Given the description of an element on the screen output the (x, y) to click on. 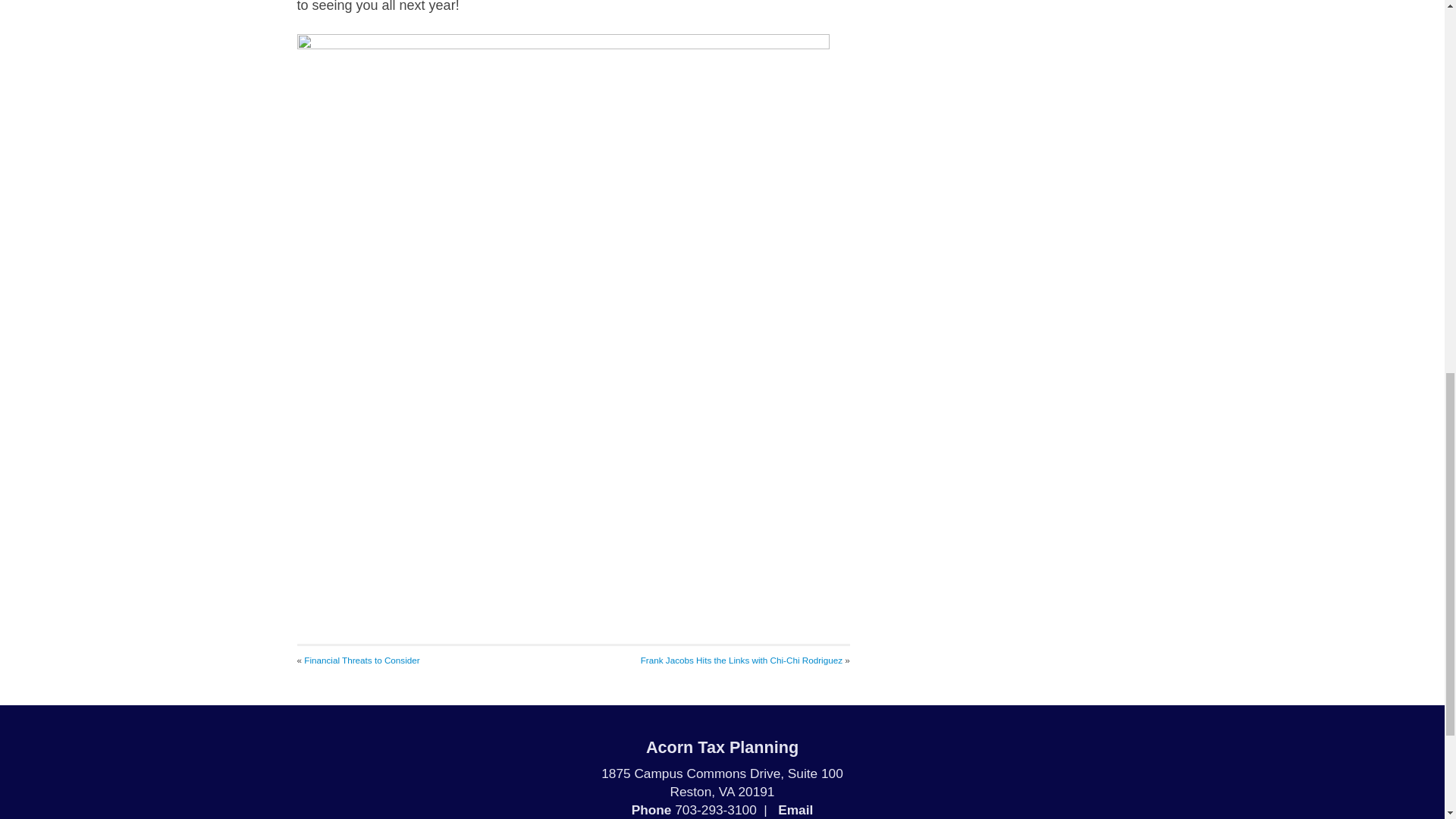
Financial Threats to Consider (361, 660)
Email (794, 809)
Frank Jacobs Hits the Links with Chi-Chi Rodriguez (741, 660)
